Given the description of an element on the screen output the (x, y) to click on. 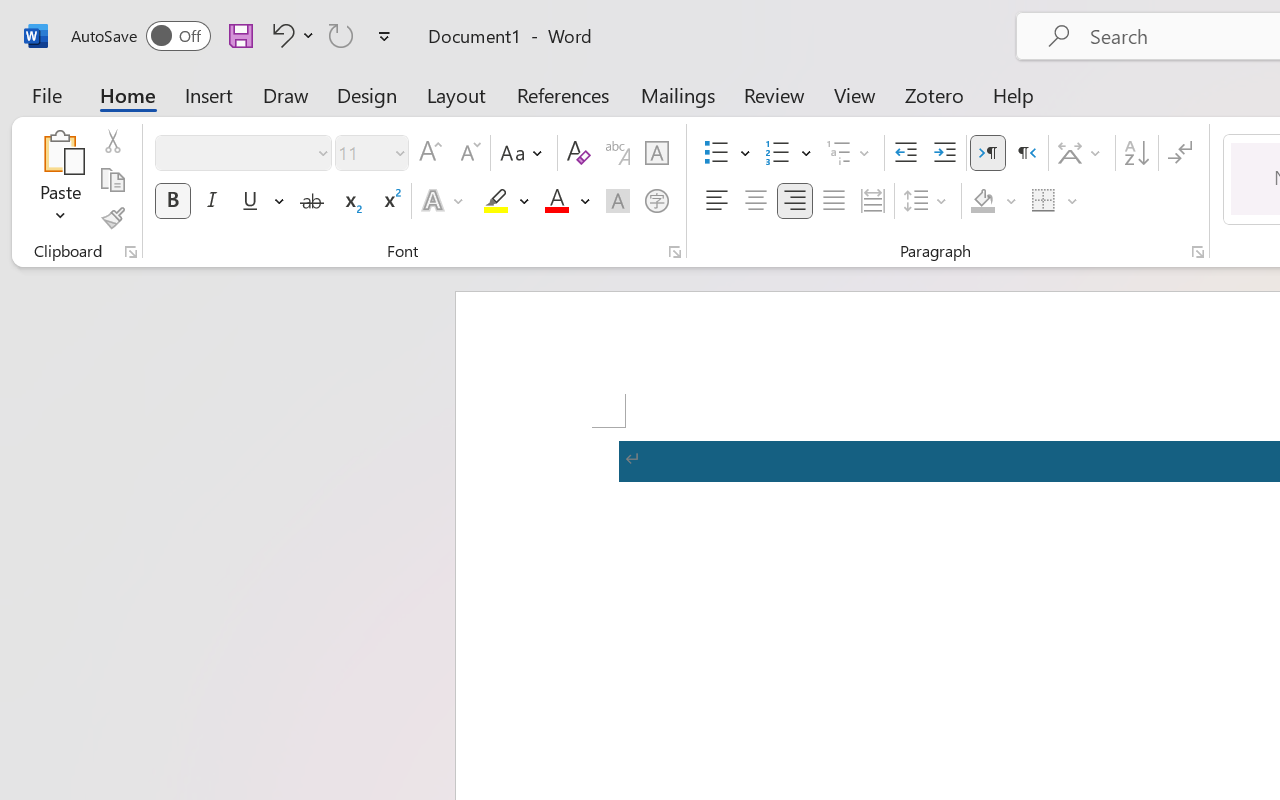
Left-to-Right (988, 153)
